Given the description of an element on the screen output the (x, y) to click on. 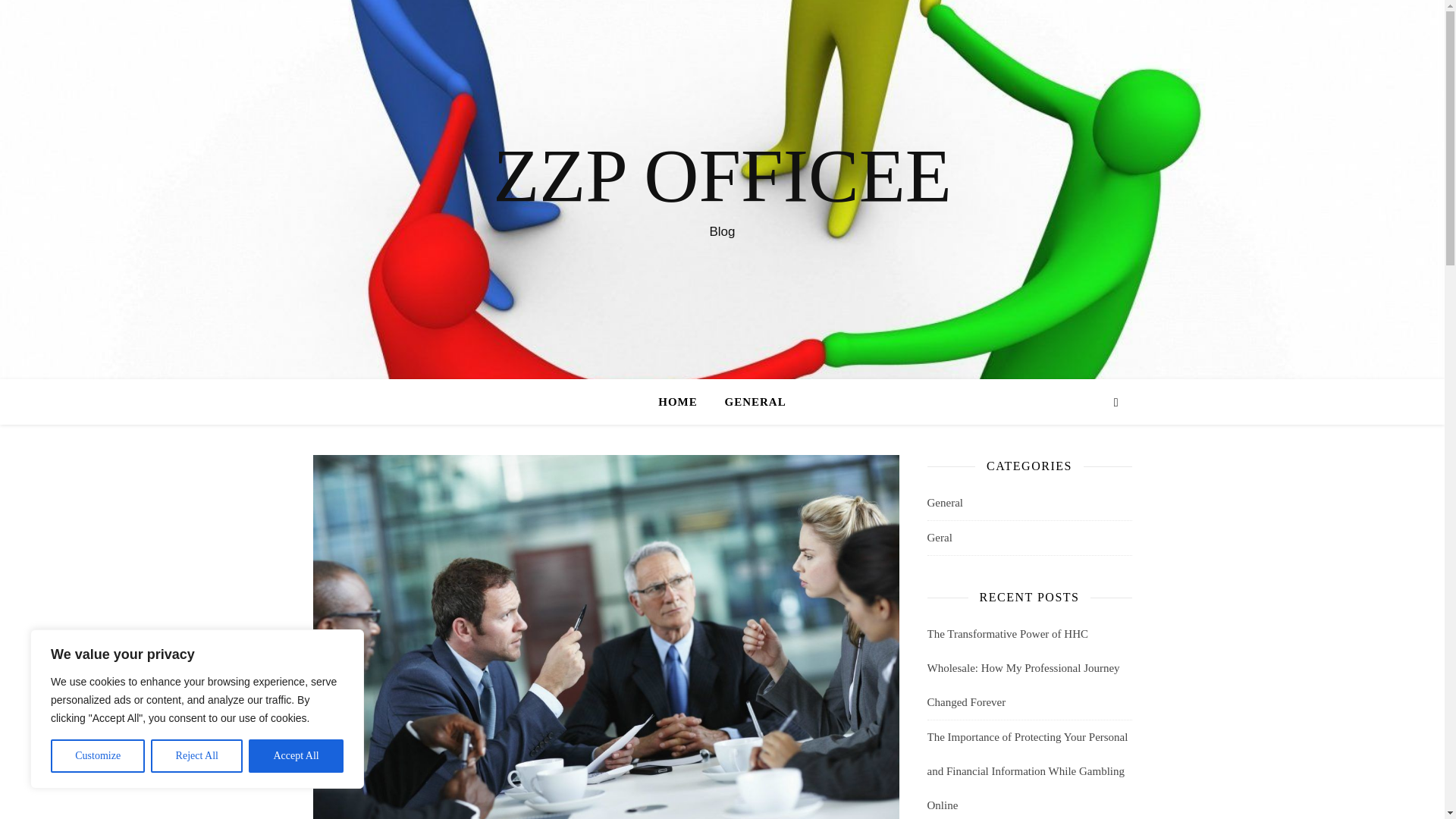
Geral (939, 537)
Reject All (197, 756)
Accept All (295, 756)
HOME (684, 402)
General (944, 503)
Customize (97, 756)
GENERAL (749, 402)
